Given the description of an element on the screen output the (x, y) to click on. 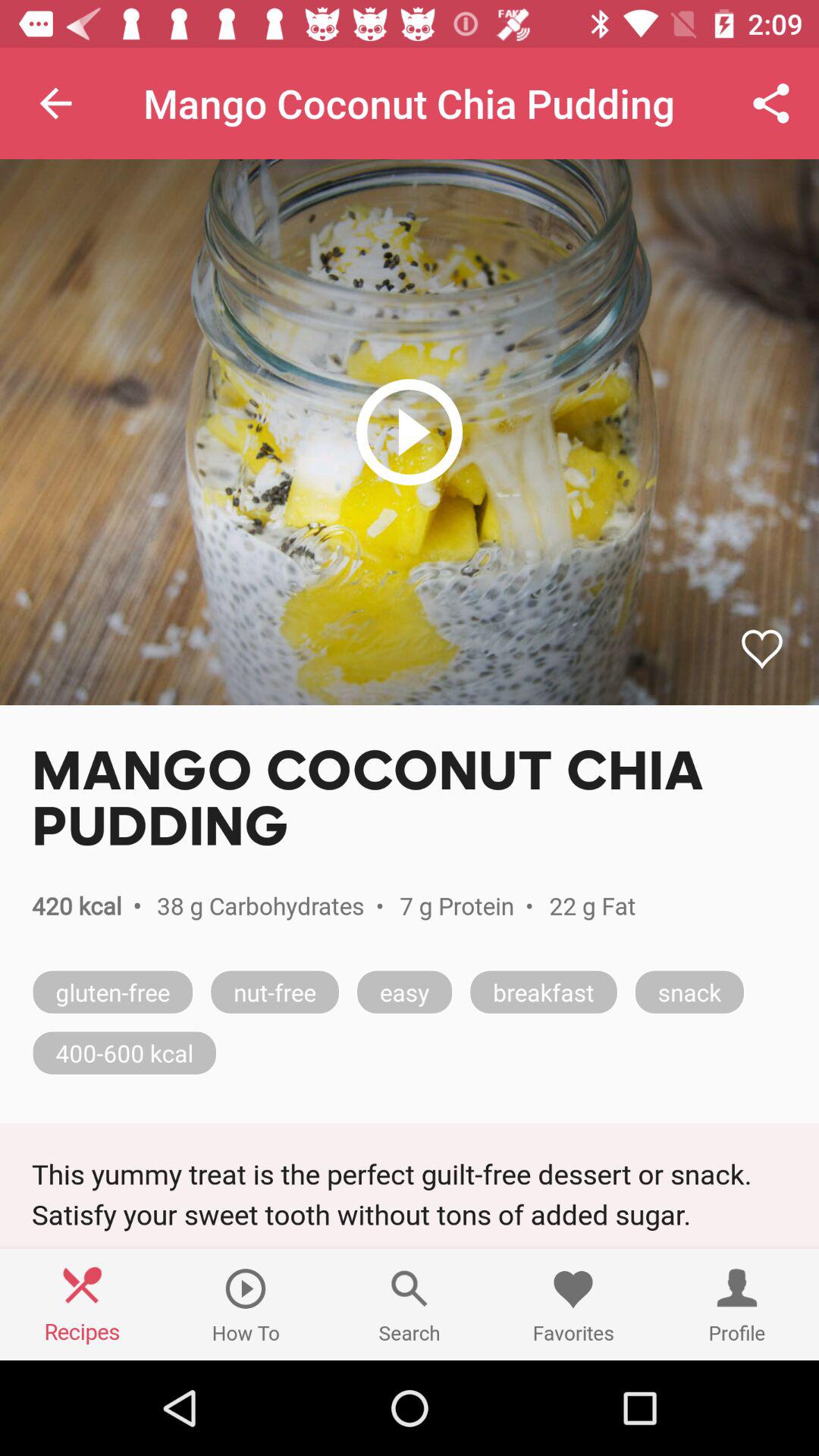
turn off icon at the top right corner (771, 103)
